Given the description of an element on the screen output the (x, y) to click on. 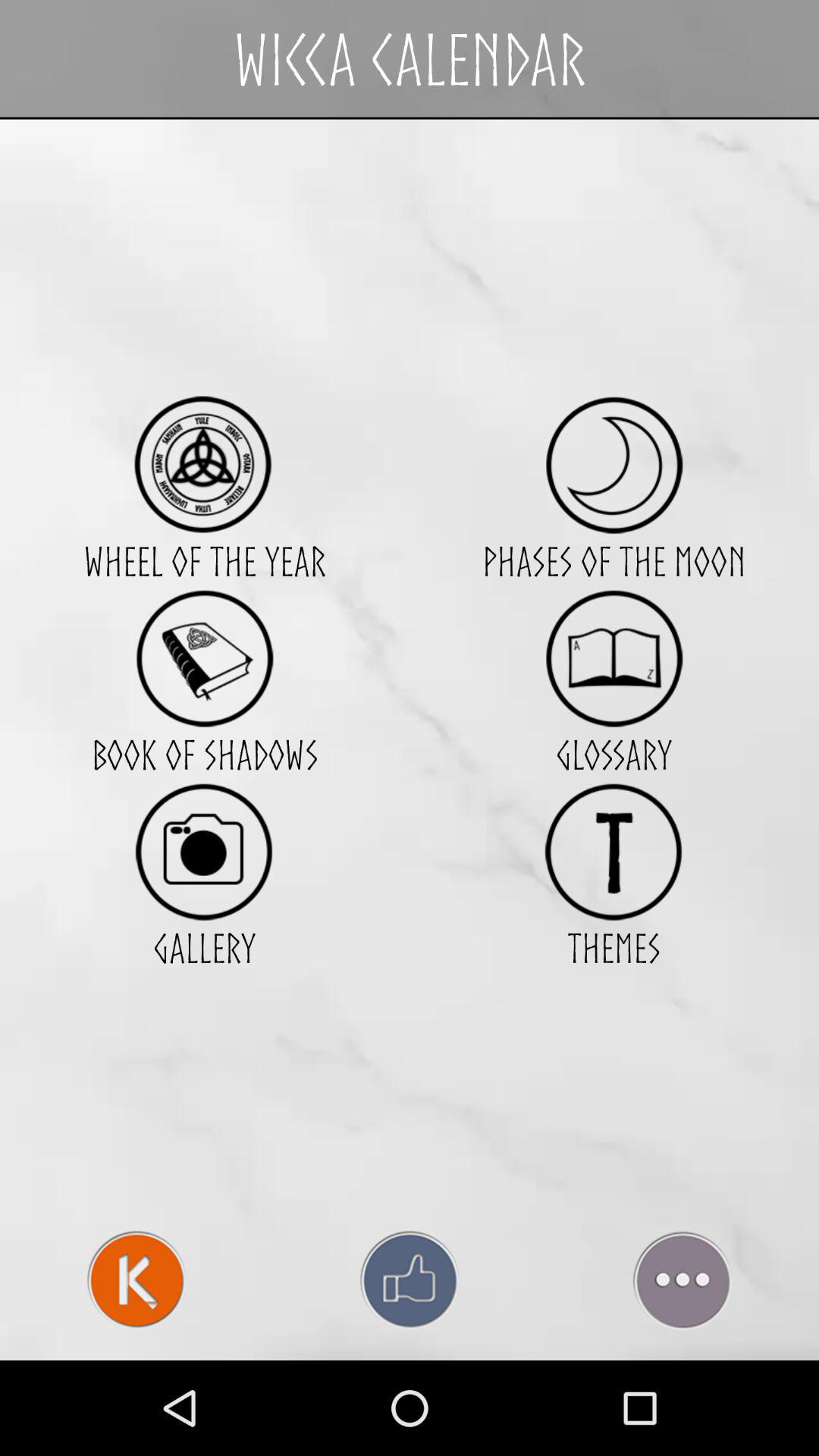
view phases of the moon (613, 464)
